Given the description of an element on the screen output the (x, y) to click on. 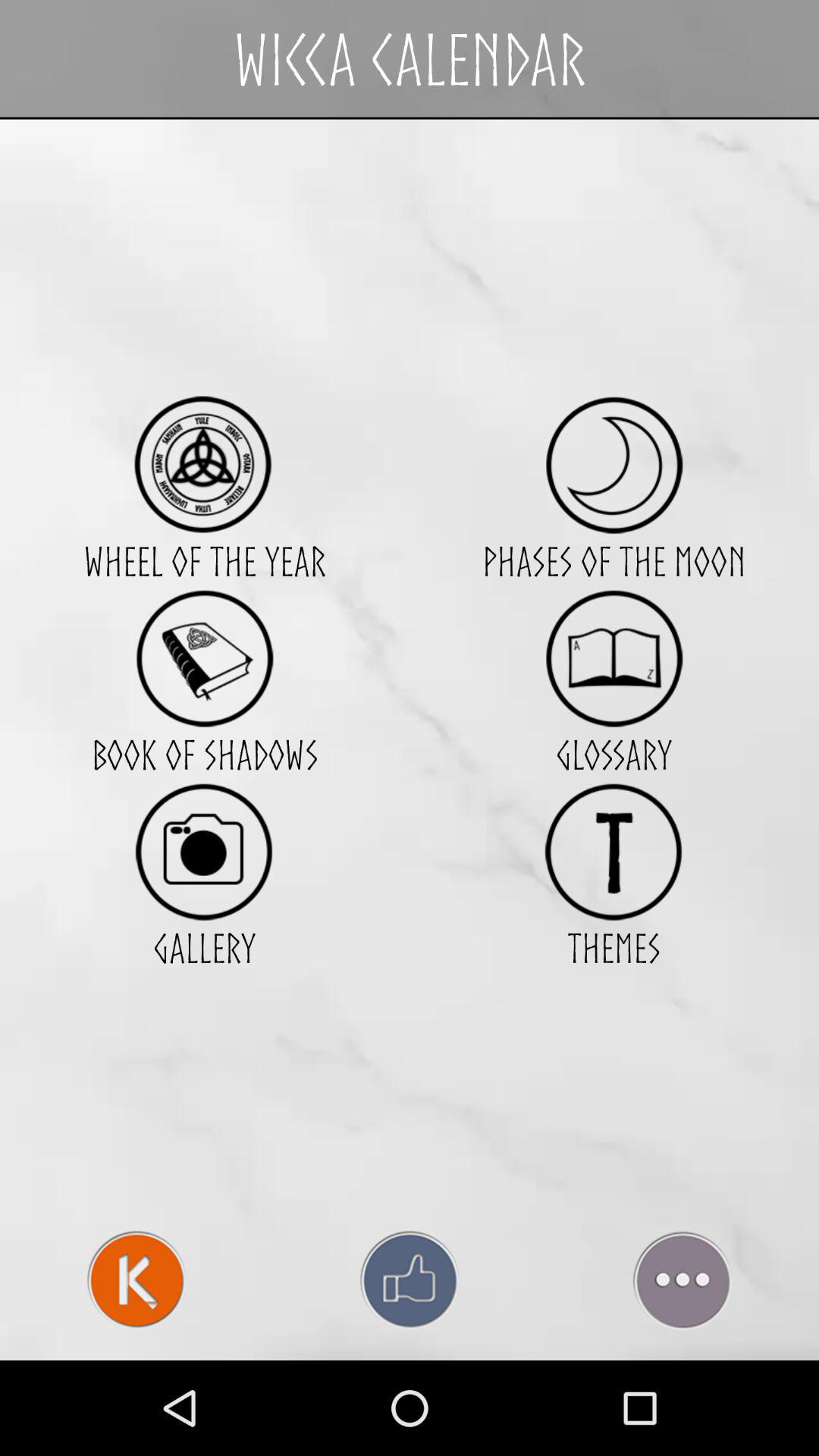
view phases of the moon (613, 464)
